Given the description of an element on the screen output the (x, y) to click on. 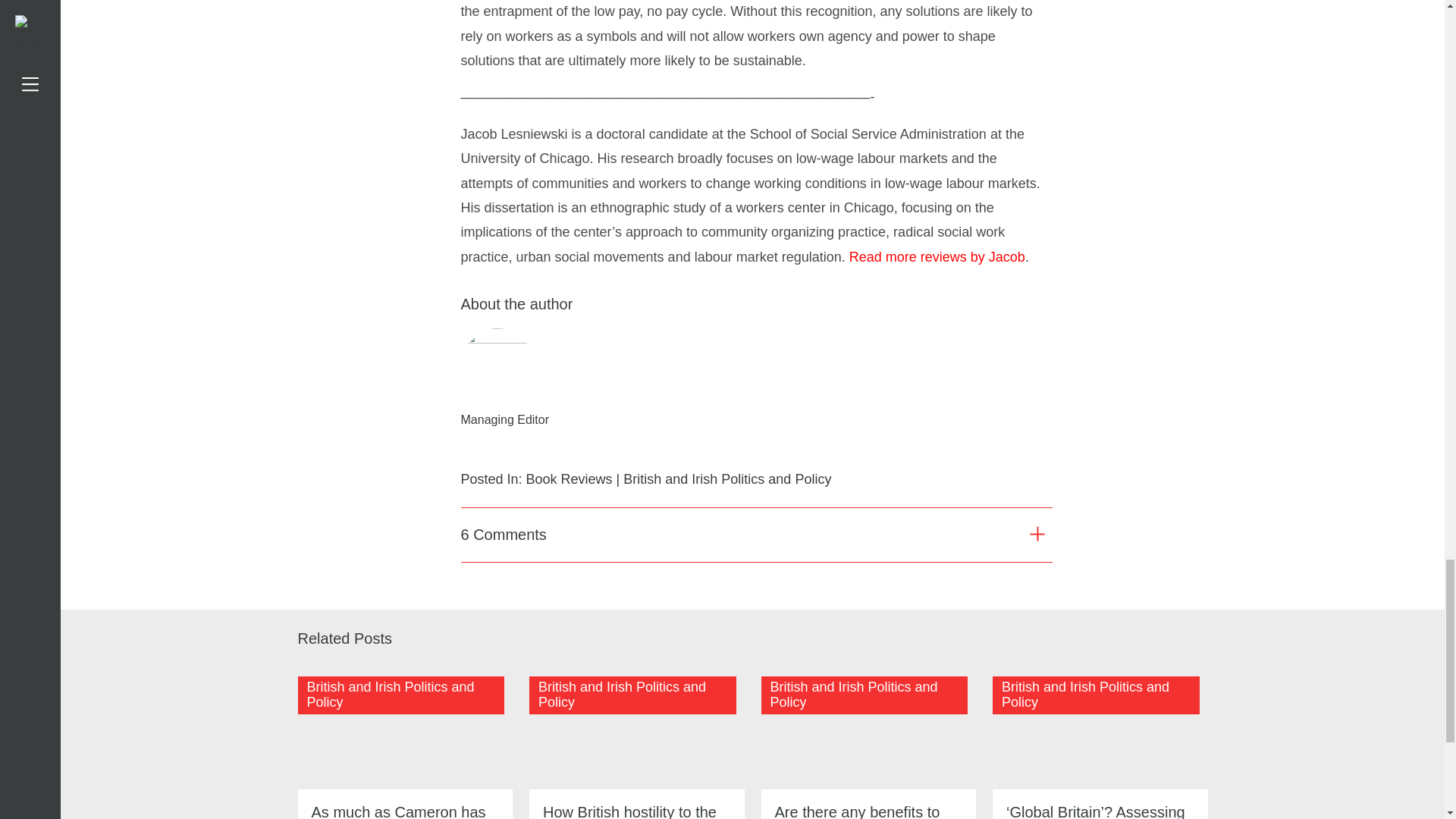
Read more reviews by Jacob (936, 256)
